Given the description of an element on the screen output the (x, y) to click on. 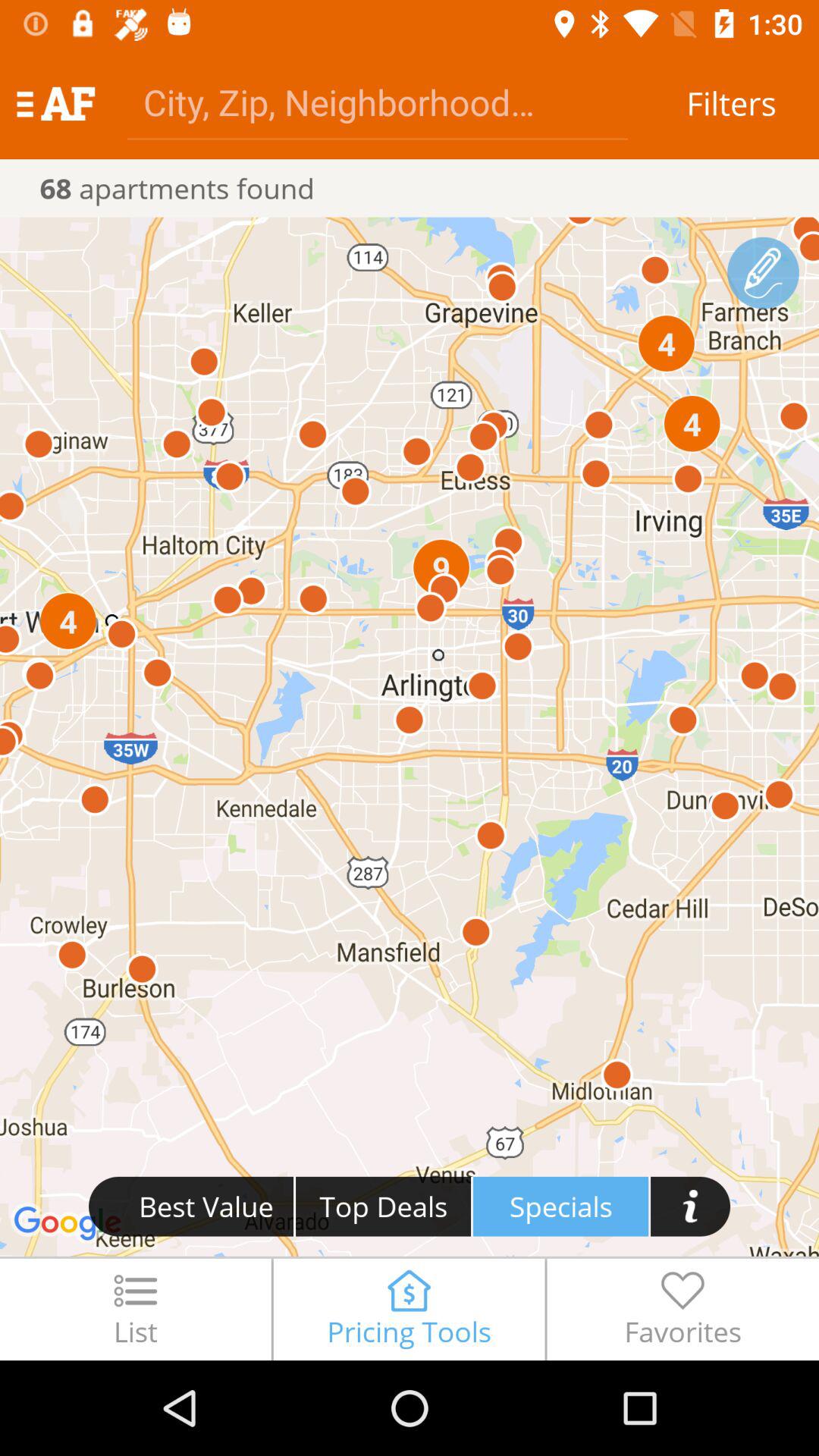
search box (377, 102)
